Given the description of an element on the screen output the (x, y) to click on. 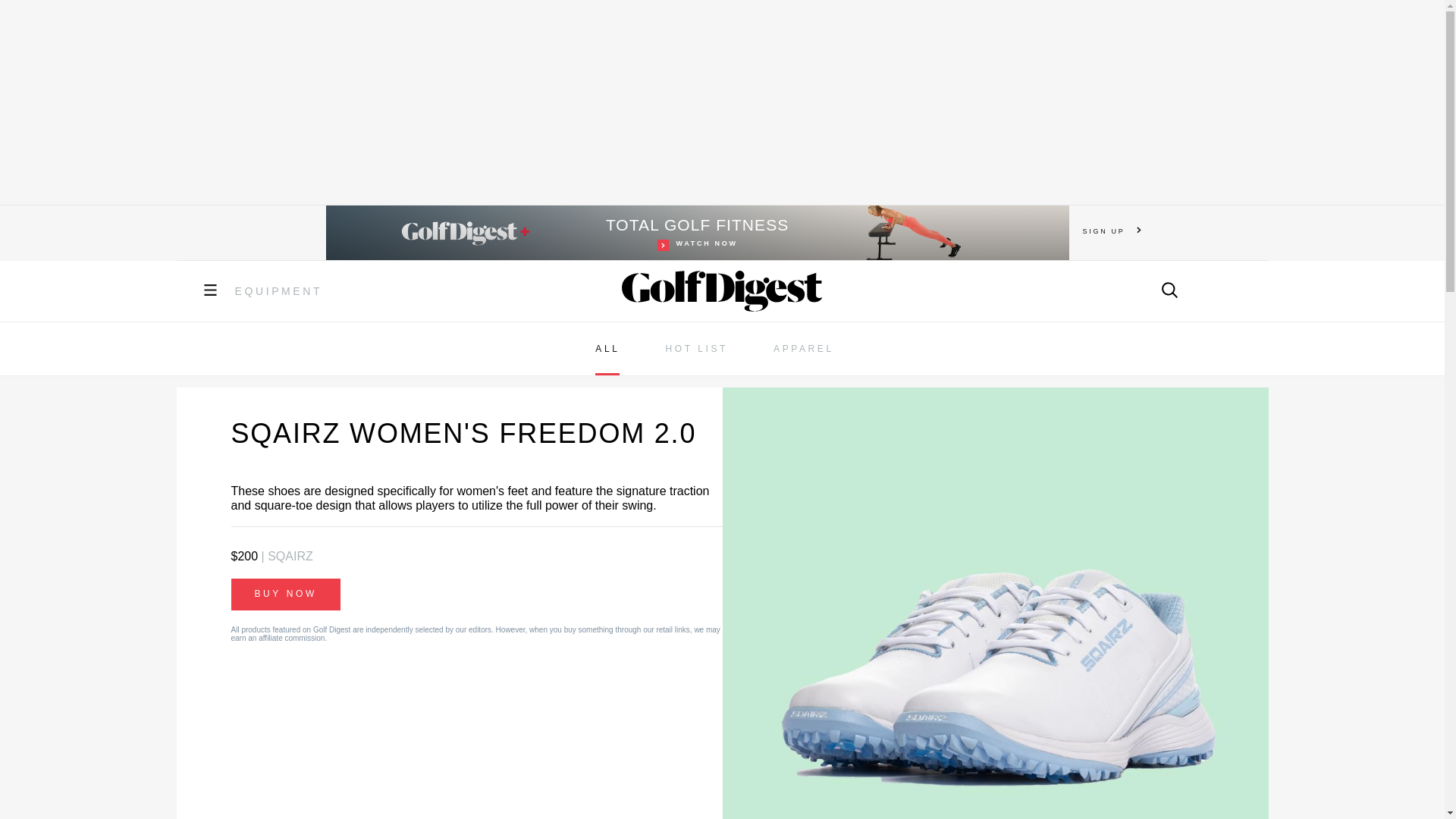
HOT LIST (697, 232)
3rd party ad content (696, 348)
EQUIPMENT (721, 101)
SIGN UP (278, 291)
APPAREL (1112, 230)
